Given the description of an element on the screen output the (x, y) to click on. 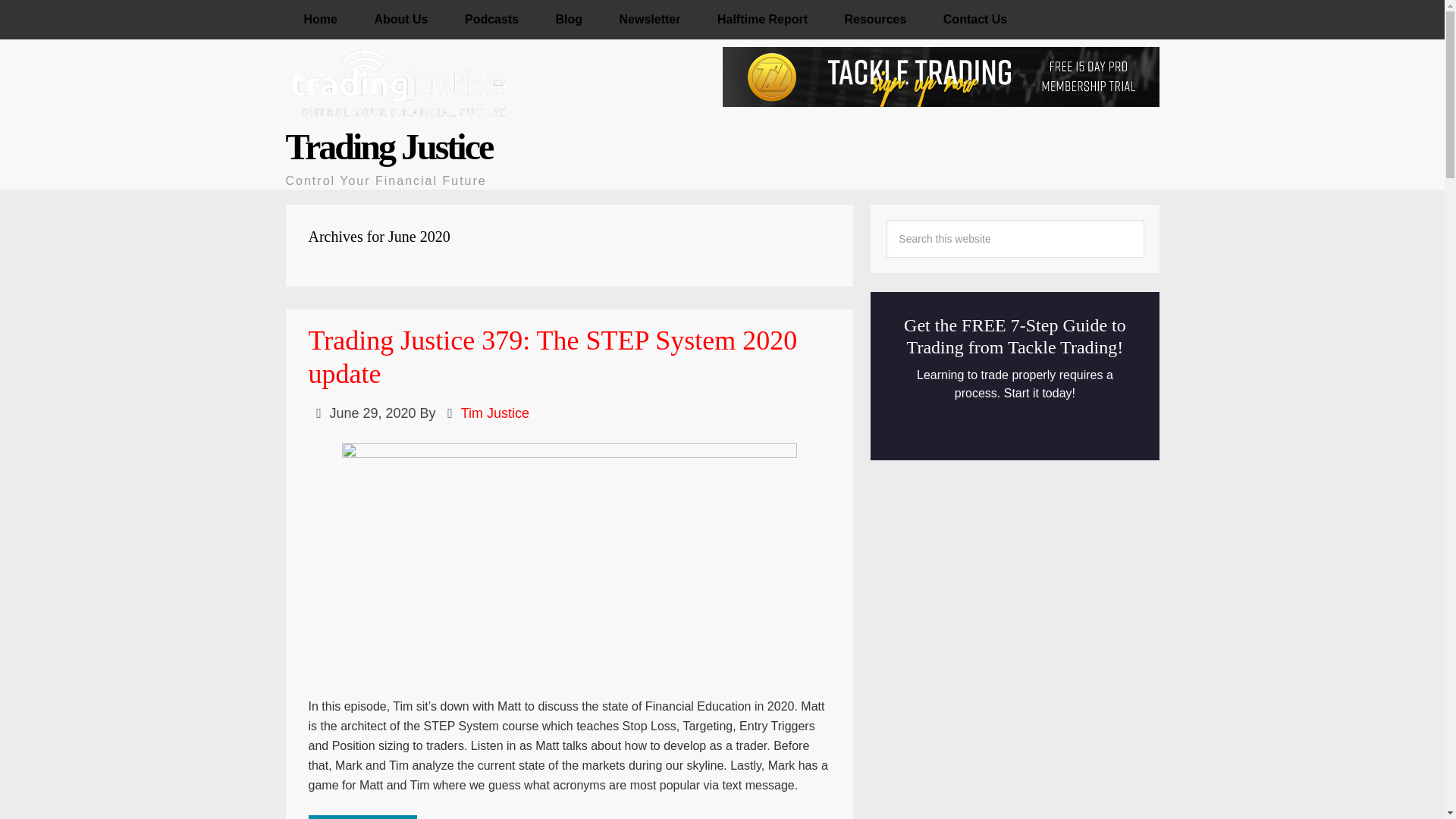
Halftime Report (761, 19)
Trading Justice (398, 118)
Home (320, 19)
Trading Justice 379: The STEP System 2020 update (551, 356)
Blog (569, 19)
Tim Justice (495, 412)
Read More (361, 816)
Newsletter (649, 19)
Resources (875, 19)
About Us (400, 19)
